Given the description of an element on the screen output the (x, y) to click on. 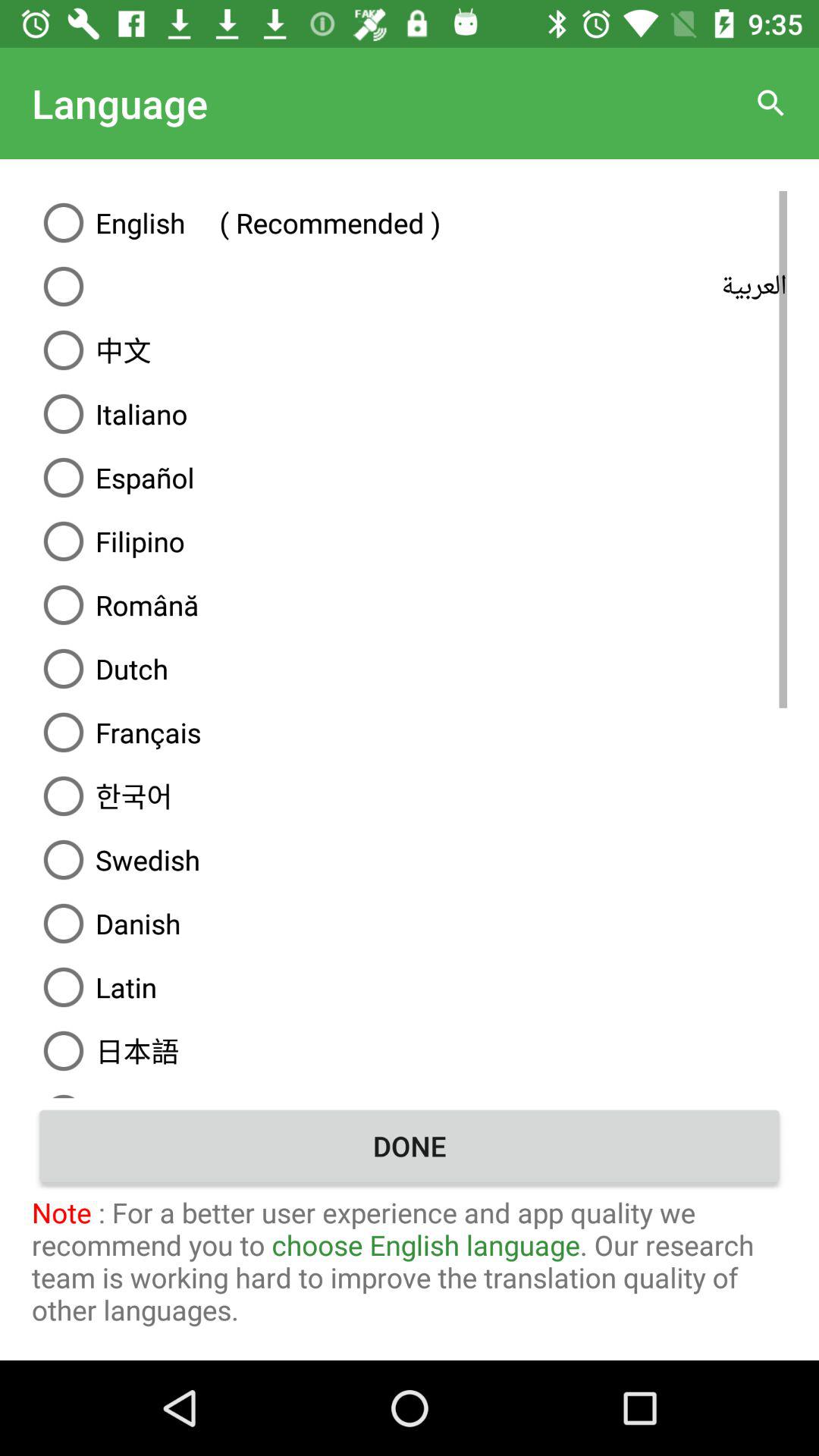
select item above the english     ( recommended ) item (771, 103)
